Given the description of an element on the screen output the (x, y) to click on. 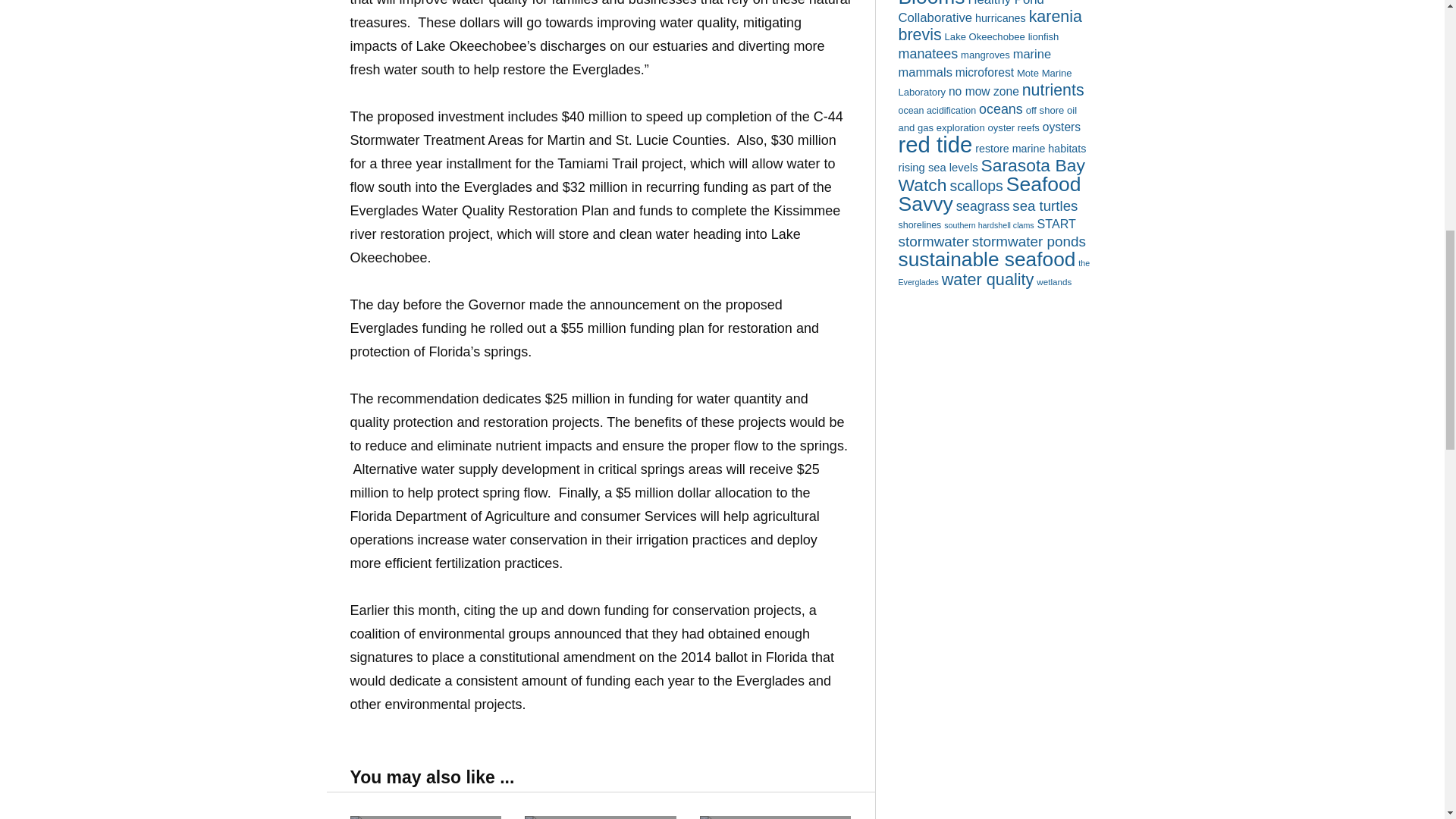
PLEASE HELP WITH RED TIDE SURVEY (600, 817)
Above Normal Hurricane Season Predicted (426, 817)
ABOVE NORMAL HURRICANE SEASON PREDICTED (426, 817)
karenia brevis (989, 25)
hurricanes (1000, 18)
Please Help with Red Tide Survey (600, 817)
Healthy Pond Collaborative (970, 12)
TOOLS FOR CLEANER WATER AT MIRA LAGO (775, 817)
Harmful Algae Blooms (960, 4)
TOOLS FOR CLEANER WATER AT MIRA LAGO (775, 817)
